Given the description of an element on the screen output the (x, y) to click on. 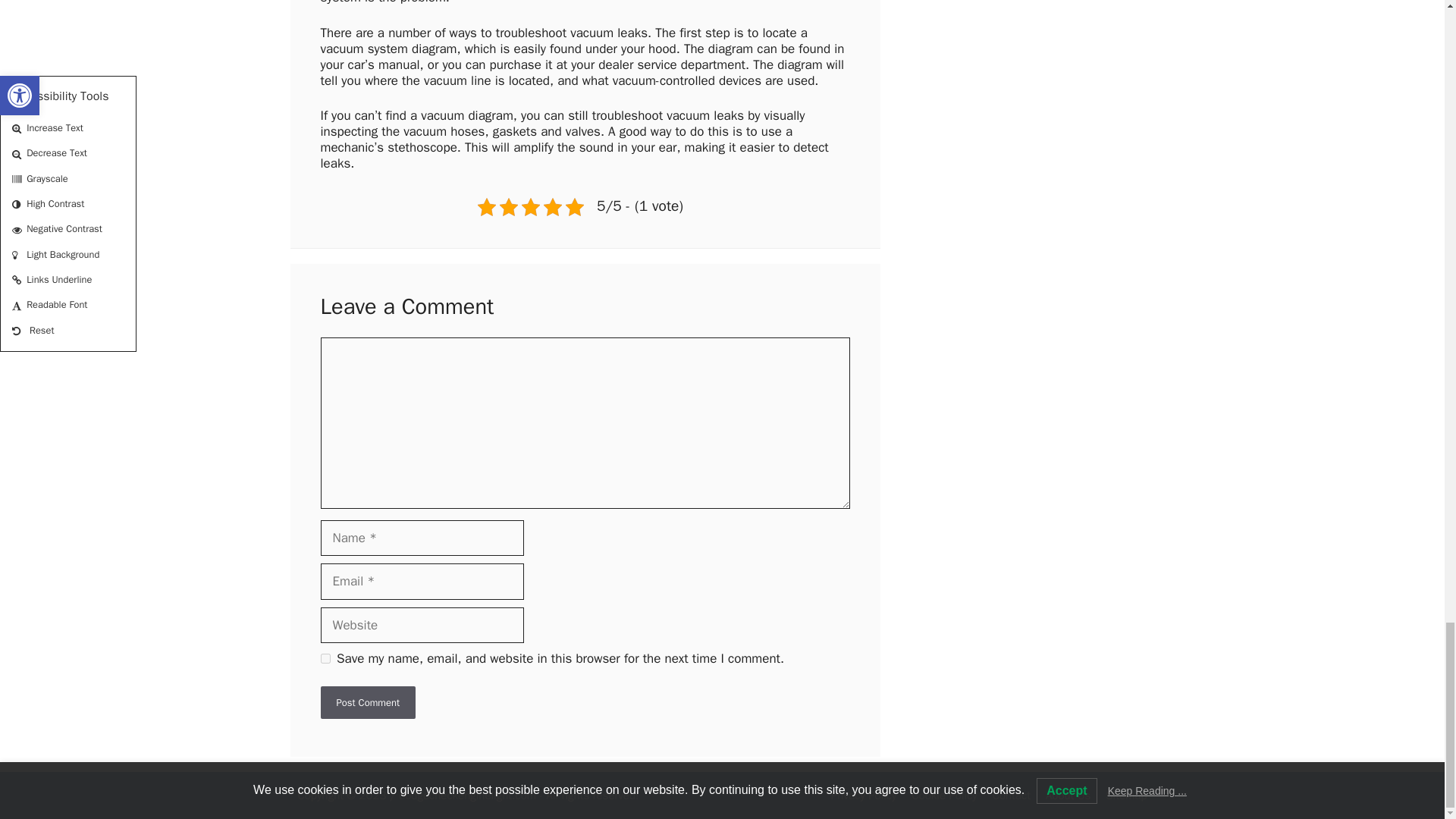
Post Comment (367, 702)
yes (325, 658)
Post Comment (367, 702)
